Given the description of an element on the screen output the (x, y) to click on. 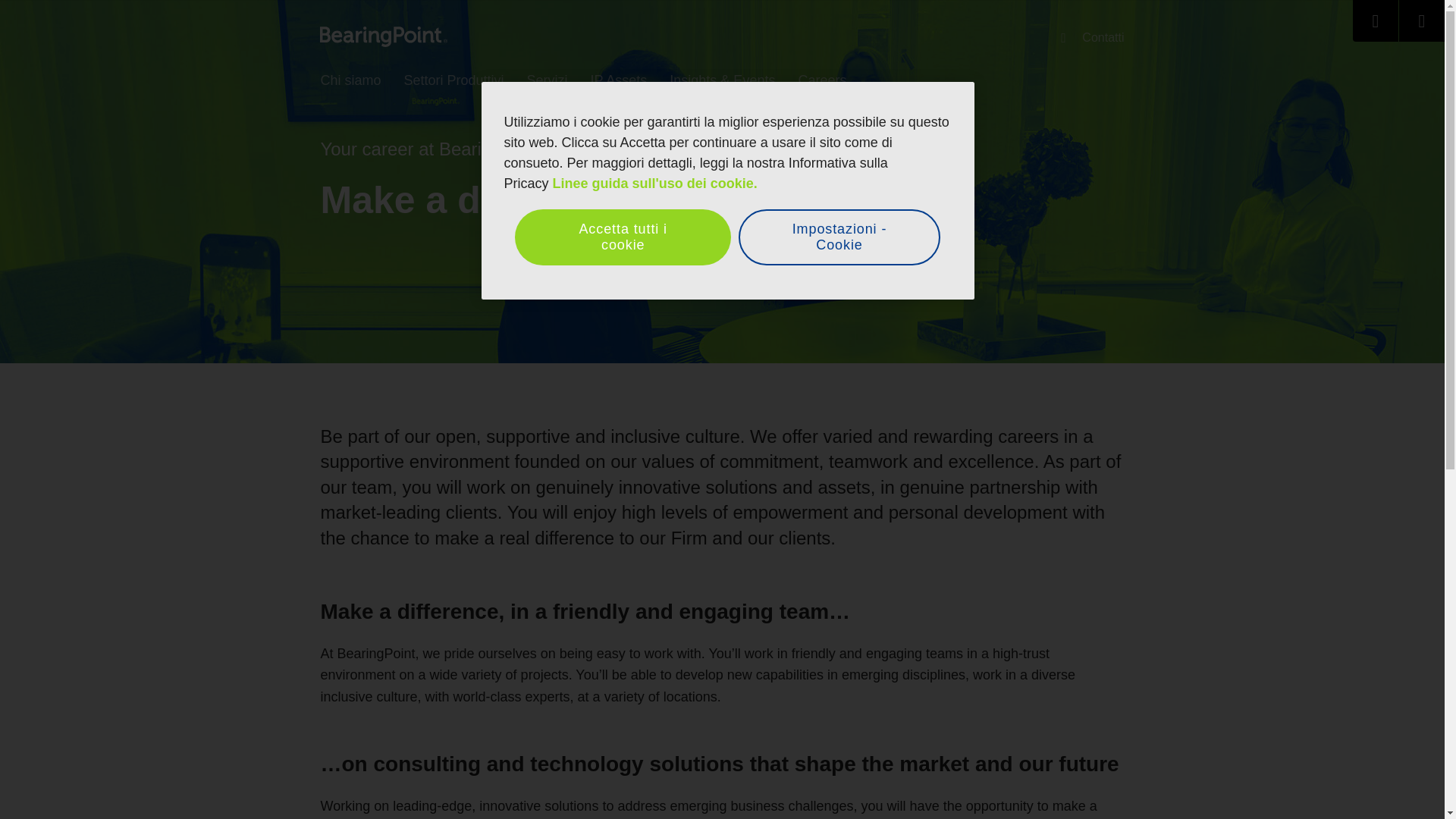
Chi siamo (350, 81)
Settori Produttivi (453, 81)
